Given the description of an element on the screen output the (x, y) to click on. 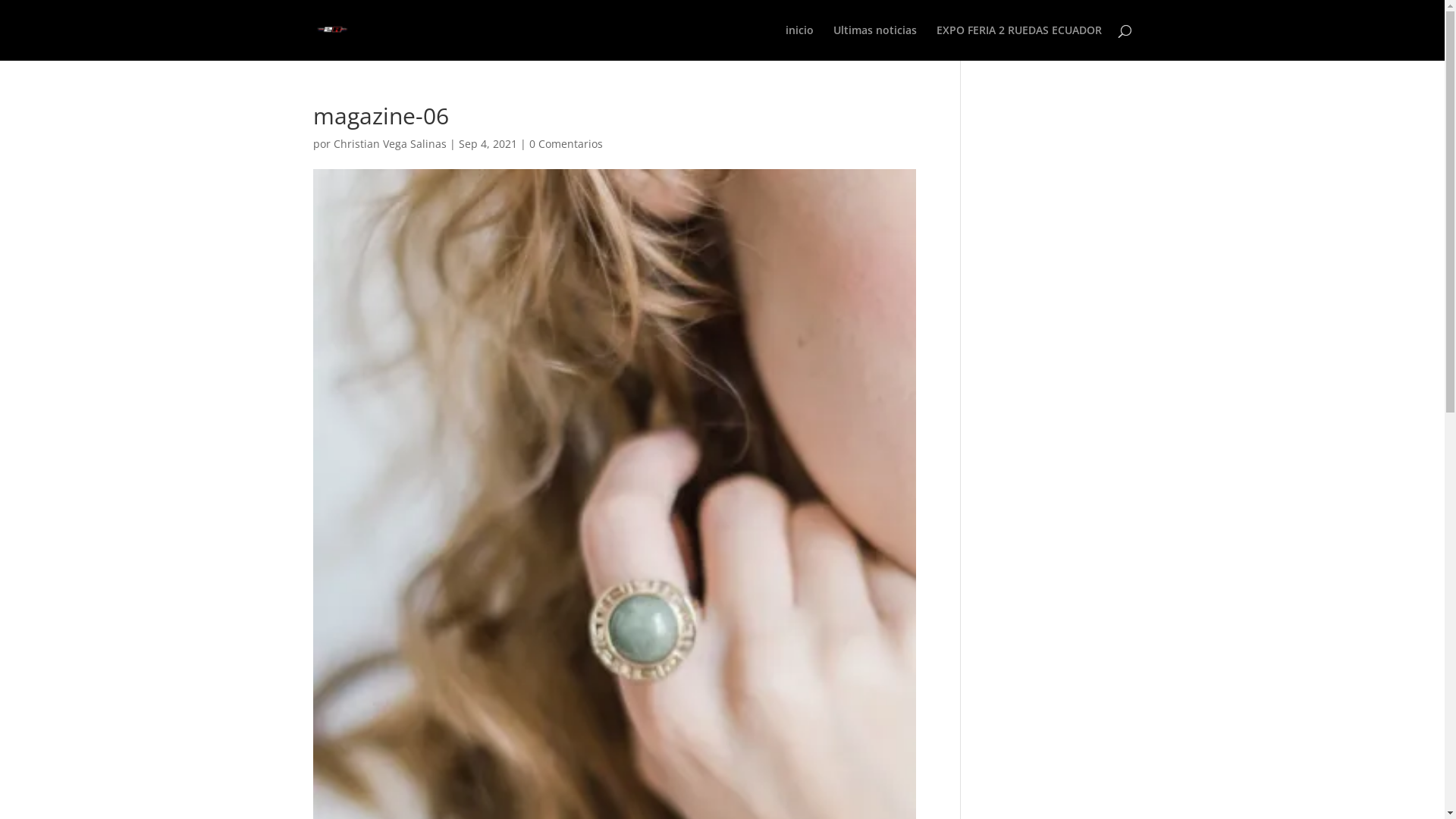
Ultimas noticias Element type: text (874, 42)
Christian Vega Salinas Element type: text (389, 143)
EXPO FERIA 2 RUEDAS ECUADOR Element type: text (1018, 42)
inicio Element type: text (799, 42)
0 Comentarios Element type: text (565, 143)
